Given the description of an element on the screen output the (x, y) to click on. 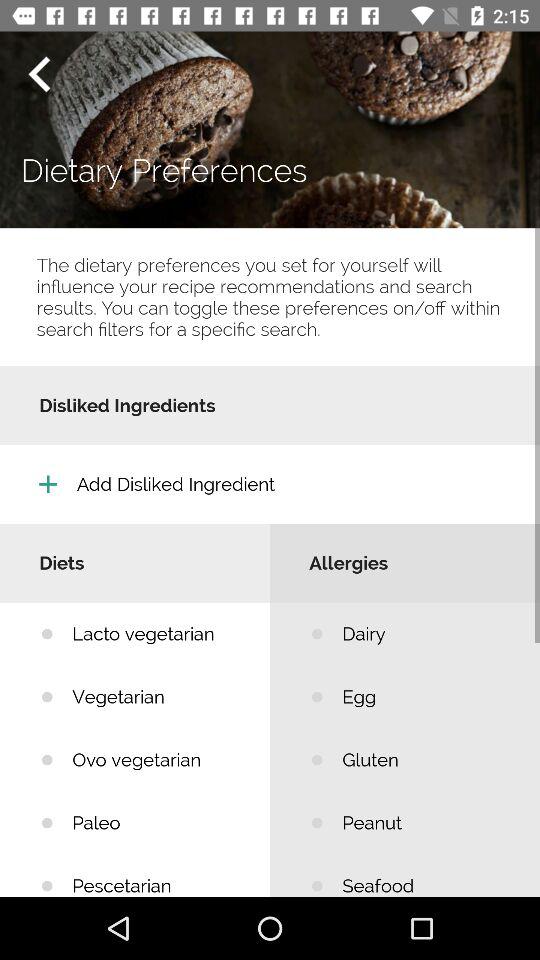
choose peanut (426, 822)
